Given the description of an element on the screen output the (x, y) to click on. 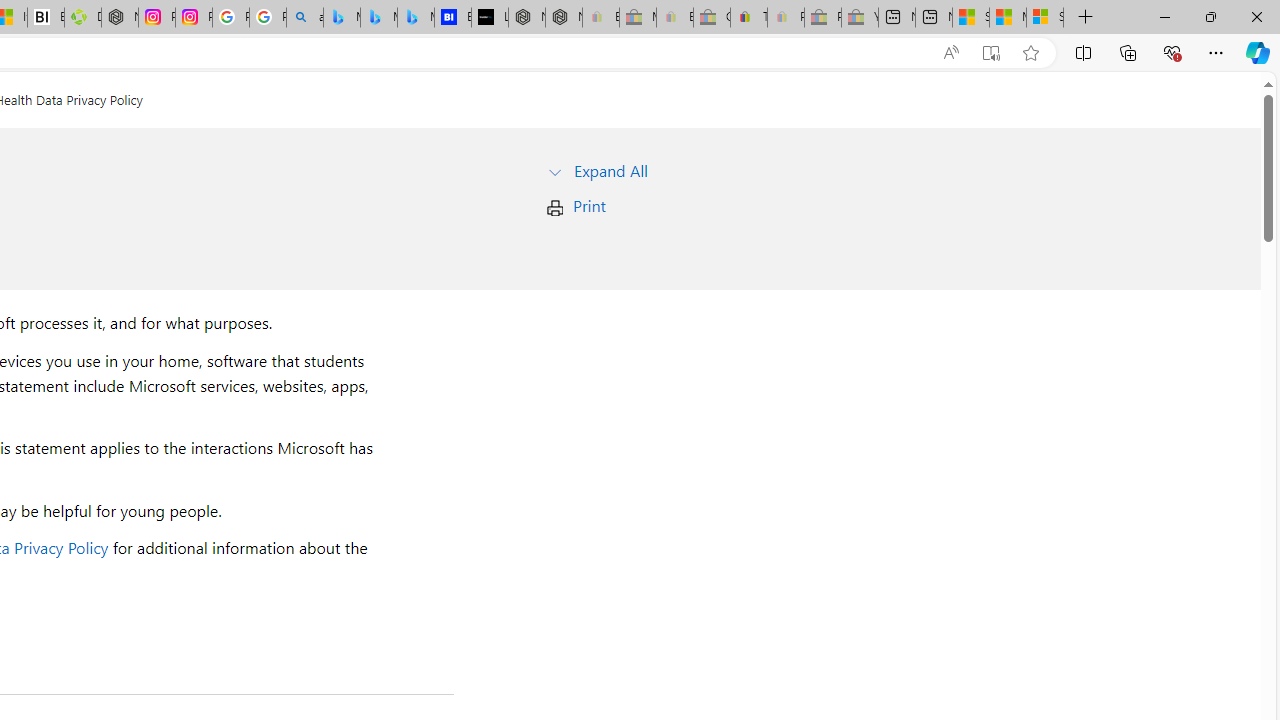
Shanghai, China hourly forecast | Microsoft Weather (971, 17)
Sign in to your Microsoft account (1044, 17)
Threats and offensive language policy | eBay (748, 17)
Nordace - Nordace Edin Collection (120, 17)
Microsoft Bing Travel - Shangri-La Hotel Bangkok (415, 17)
